Given the description of an element on the screen output the (x, y) to click on. 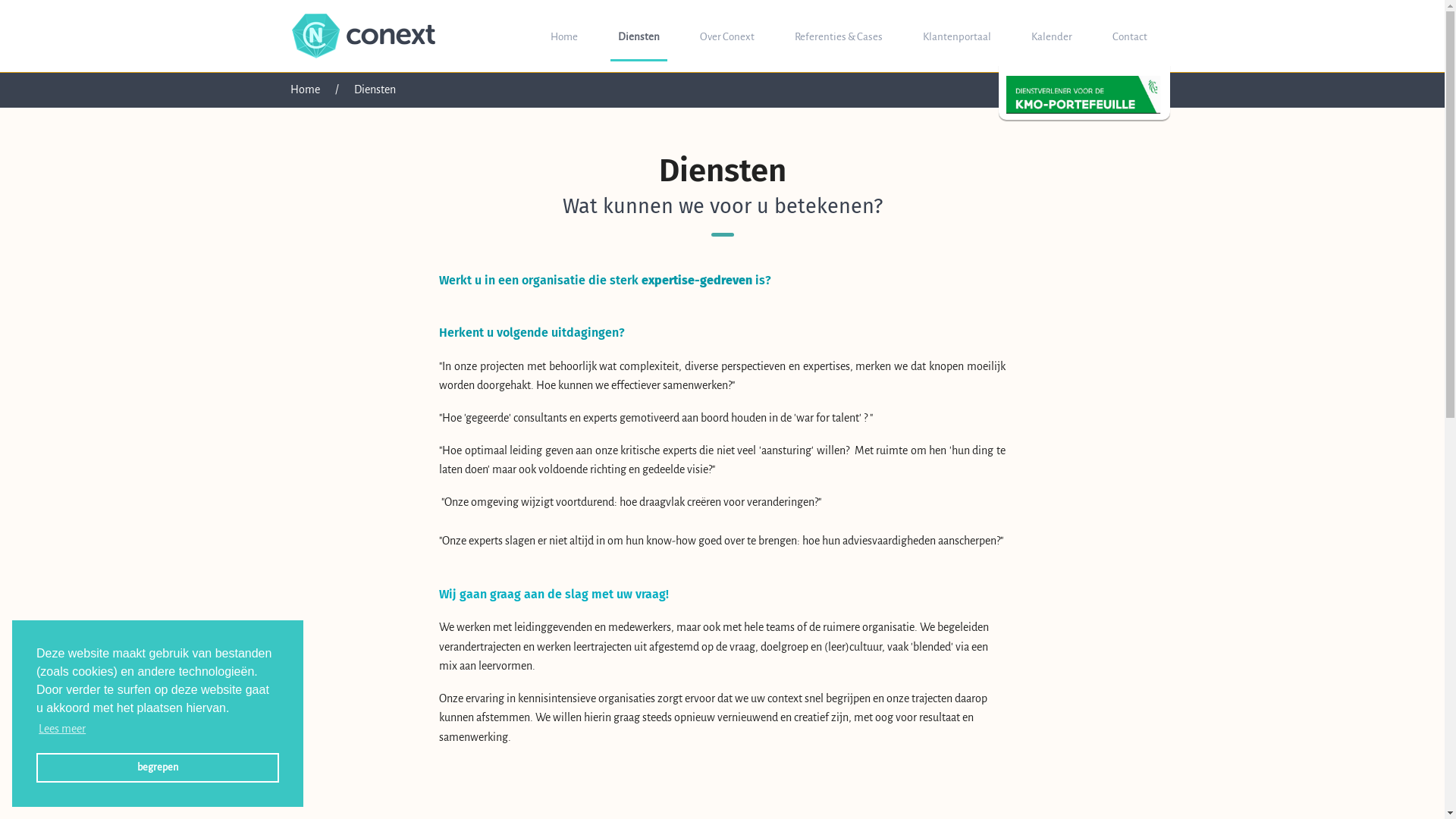
Diensten Element type: text (374, 89)
Over Conext Element type: text (726, 36)
begrepen Element type: text (157, 767)
Home Element type: text (304, 89)
Klantenportaal Element type: text (956, 36)
Contact Element type: text (1128, 36)
Referenties & Cases Element type: text (838, 36)
Lees meer Element type: text (61, 728)
Home Element type: text (563, 36)
Kalender Element type: text (1051, 36)
Diensten Element type: text (637, 36)
